Given the description of an element on the screen output the (x, y) to click on. 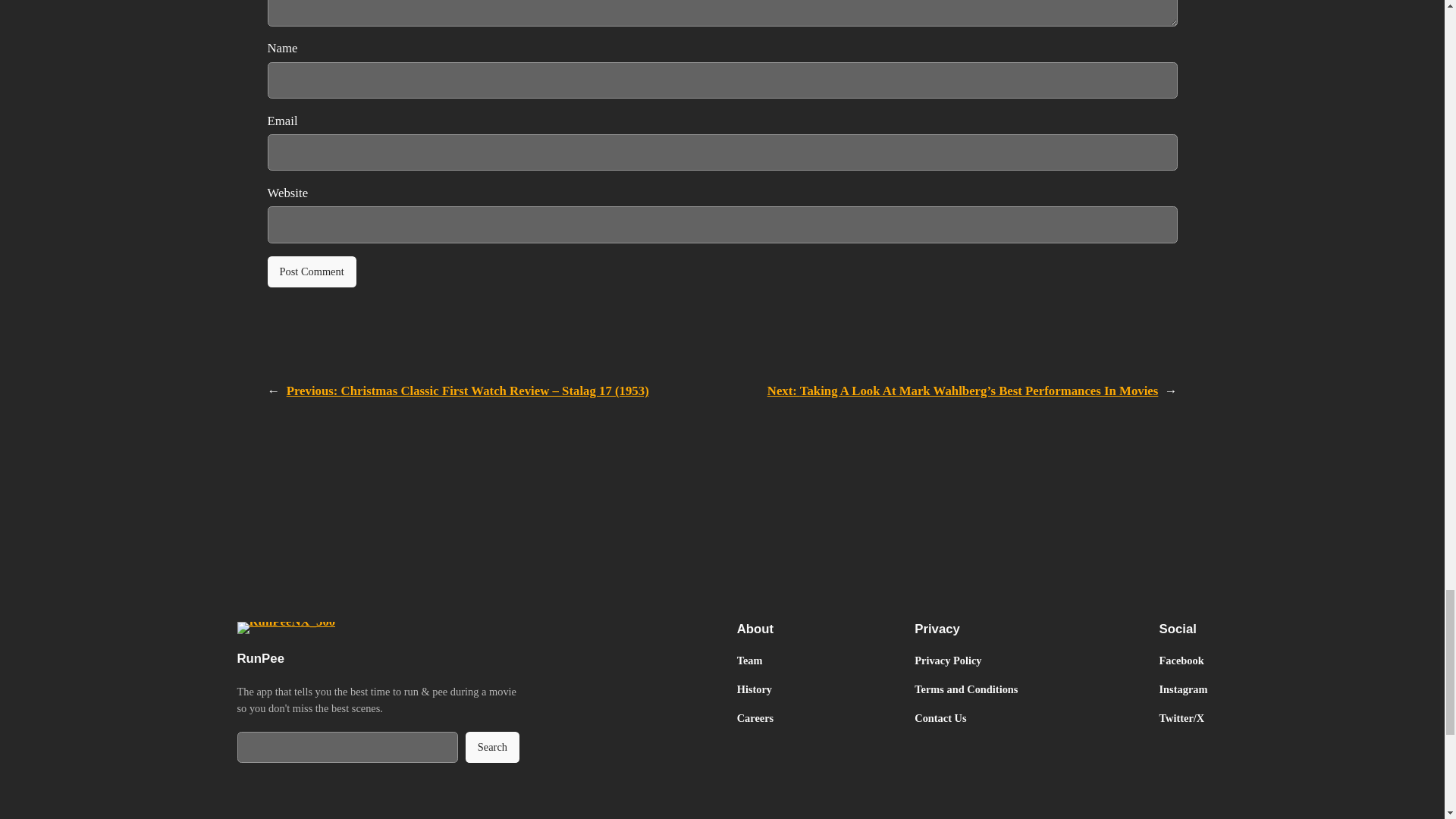
Team (749, 660)
RunPee (259, 658)
Privacy Policy (947, 660)
Careers (754, 718)
Post Comment (310, 272)
Contact Us (940, 718)
History (753, 688)
Post Comment (310, 272)
Instagram (1183, 688)
Search (492, 747)
